Given the description of an element on the screen output the (x, y) to click on. 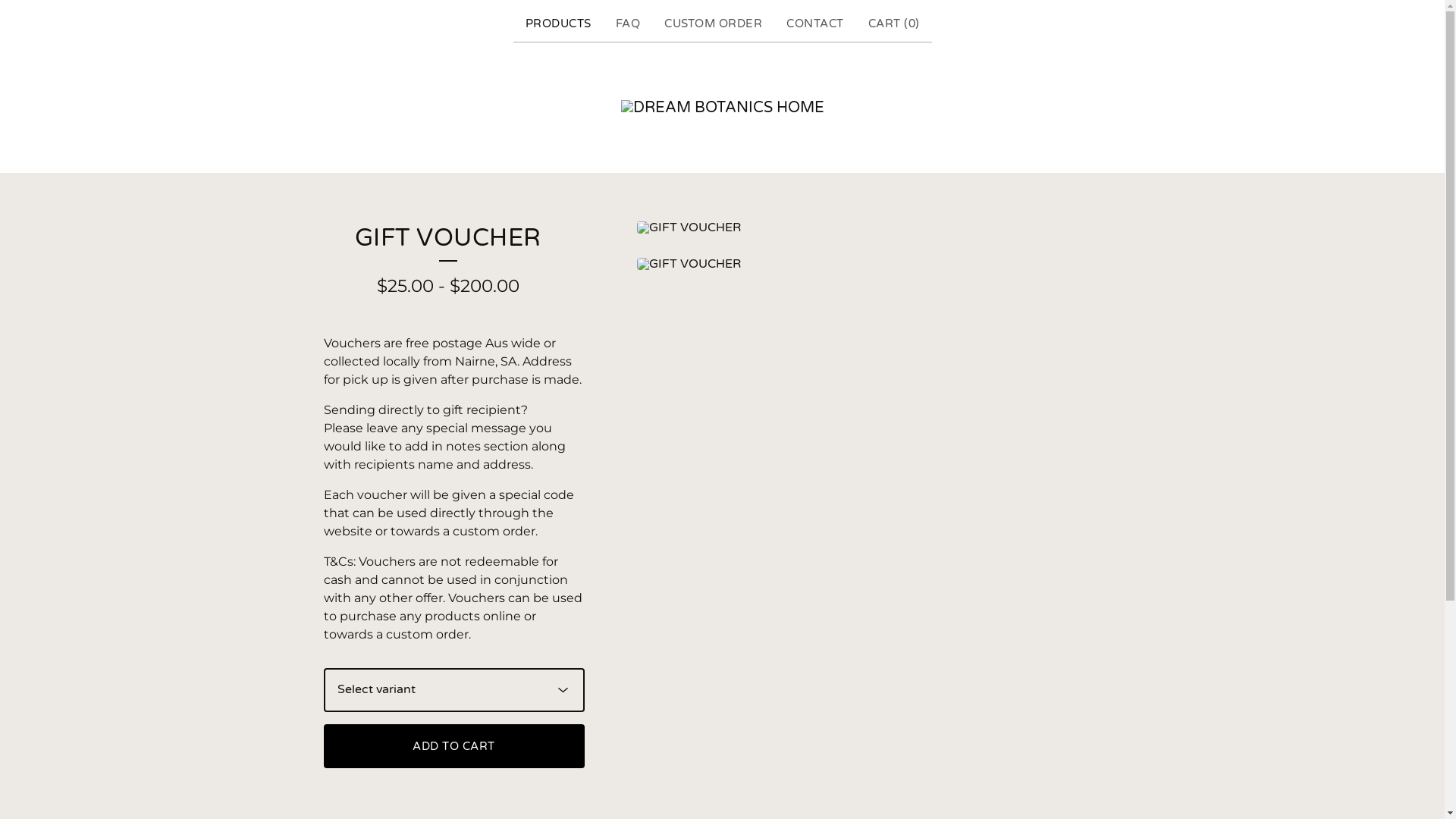
CONTACT Element type: text (815, 23)
PRODUCTS Element type: text (557, 23)
Home Element type: hover (721, 107)
CUSTOM ORDER Element type: text (713, 23)
CART (0) Element type: text (893, 23)
ADD TO CART Element type: text (453, 746)
FAQ Element type: text (627, 23)
